Given the description of an element on the screen output the (x, y) to click on. 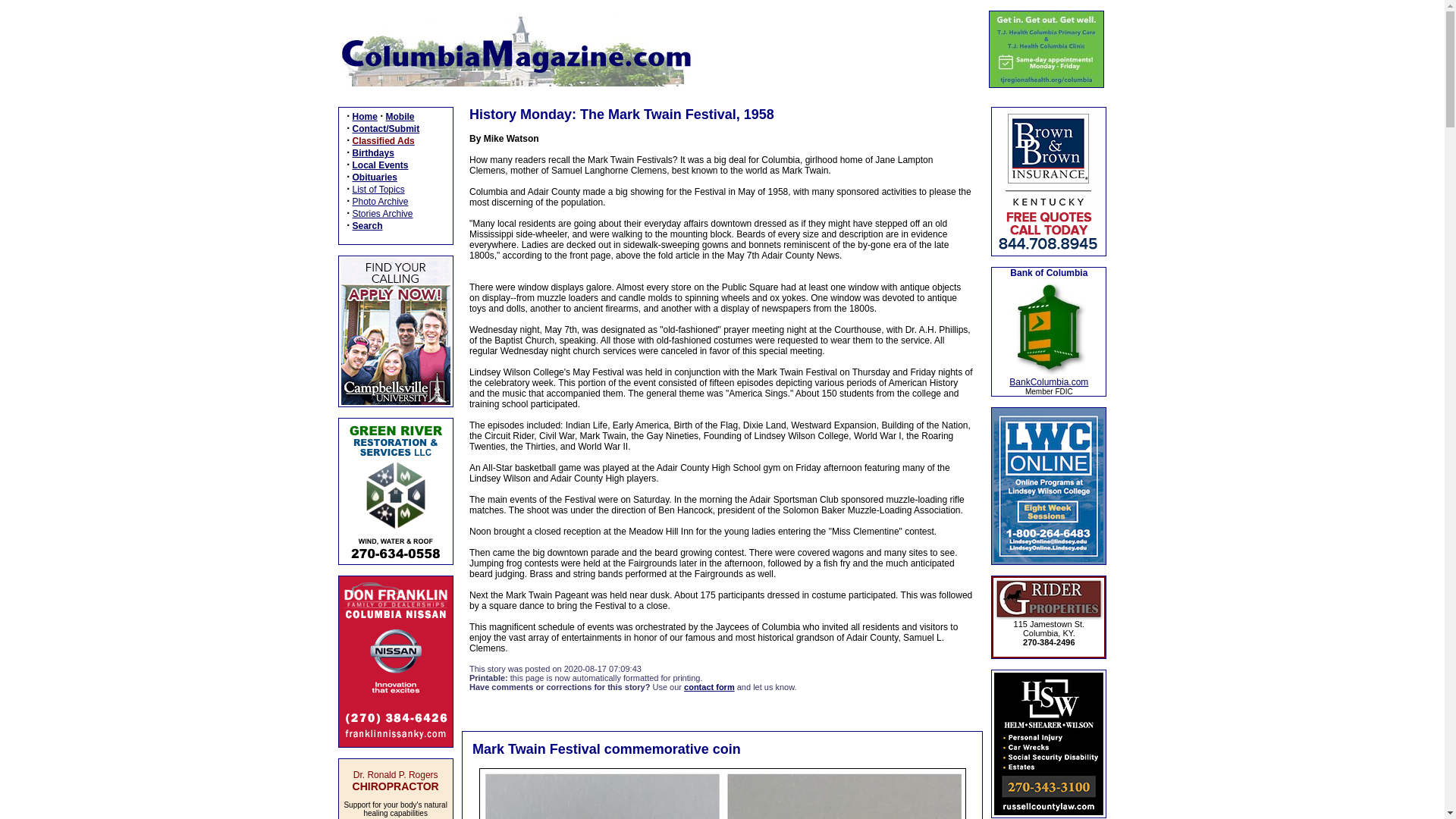
Search (366, 225)
Stories Archive (382, 213)
Mobile (399, 116)
Classified Ads (382, 140)
Obituaries (374, 176)
Photo Archive (379, 201)
Local Events (379, 164)
Birthdays (372, 153)
Home (364, 116)
List of Topics (378, 189)
